Given the description of an element on the screen output the (x, y) to click on. 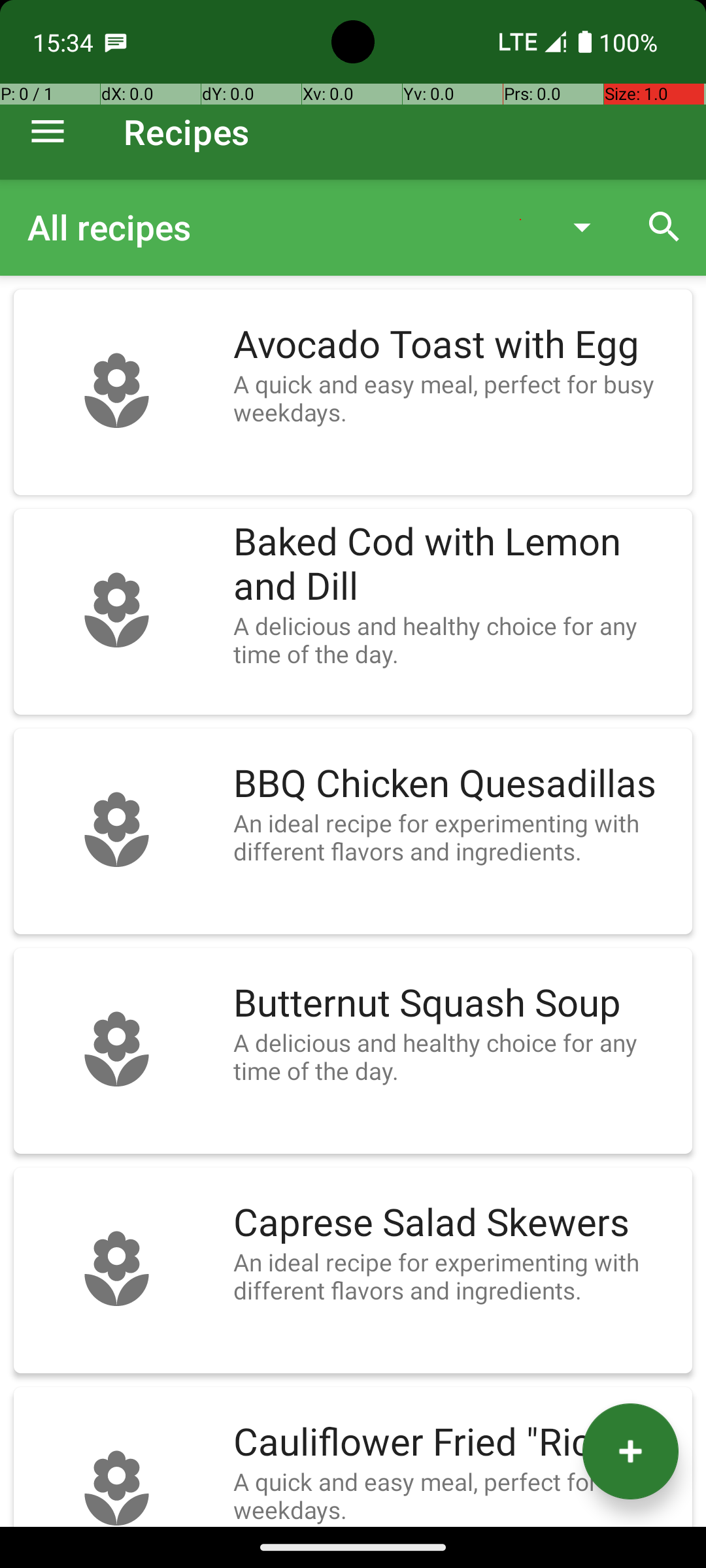
SMS Messenger notification: Isla da Silva Element type: android.widget.ImageView (115, 41)
